Given the description of an element on the screen output the (x, y) to click on. 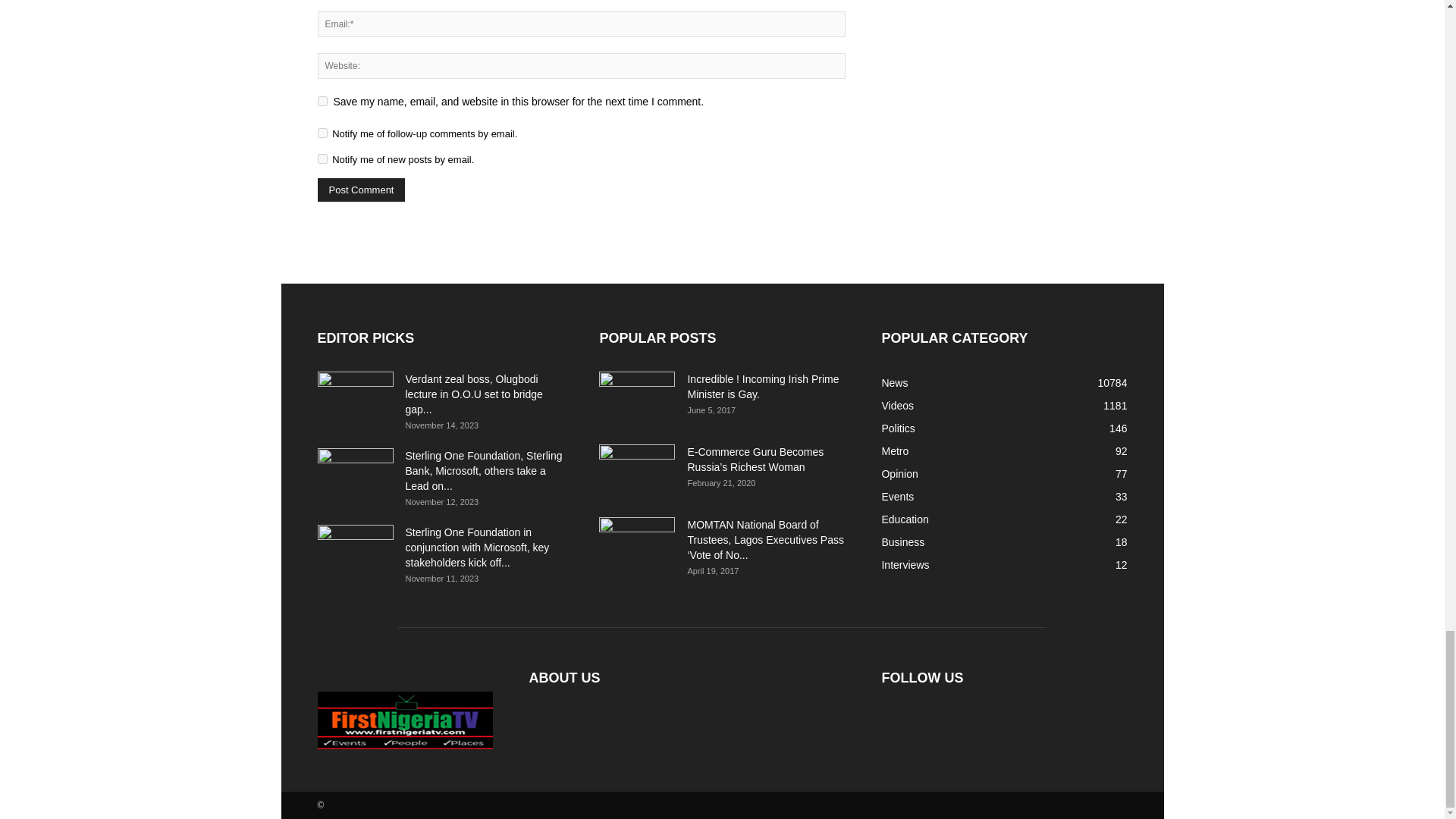
yes (321, 101)
subscribe (321, 132)
subscribe (321, 158)
Post Comment (360, 189)
